Given the description of an element on the screen output the (x, y) to click on. 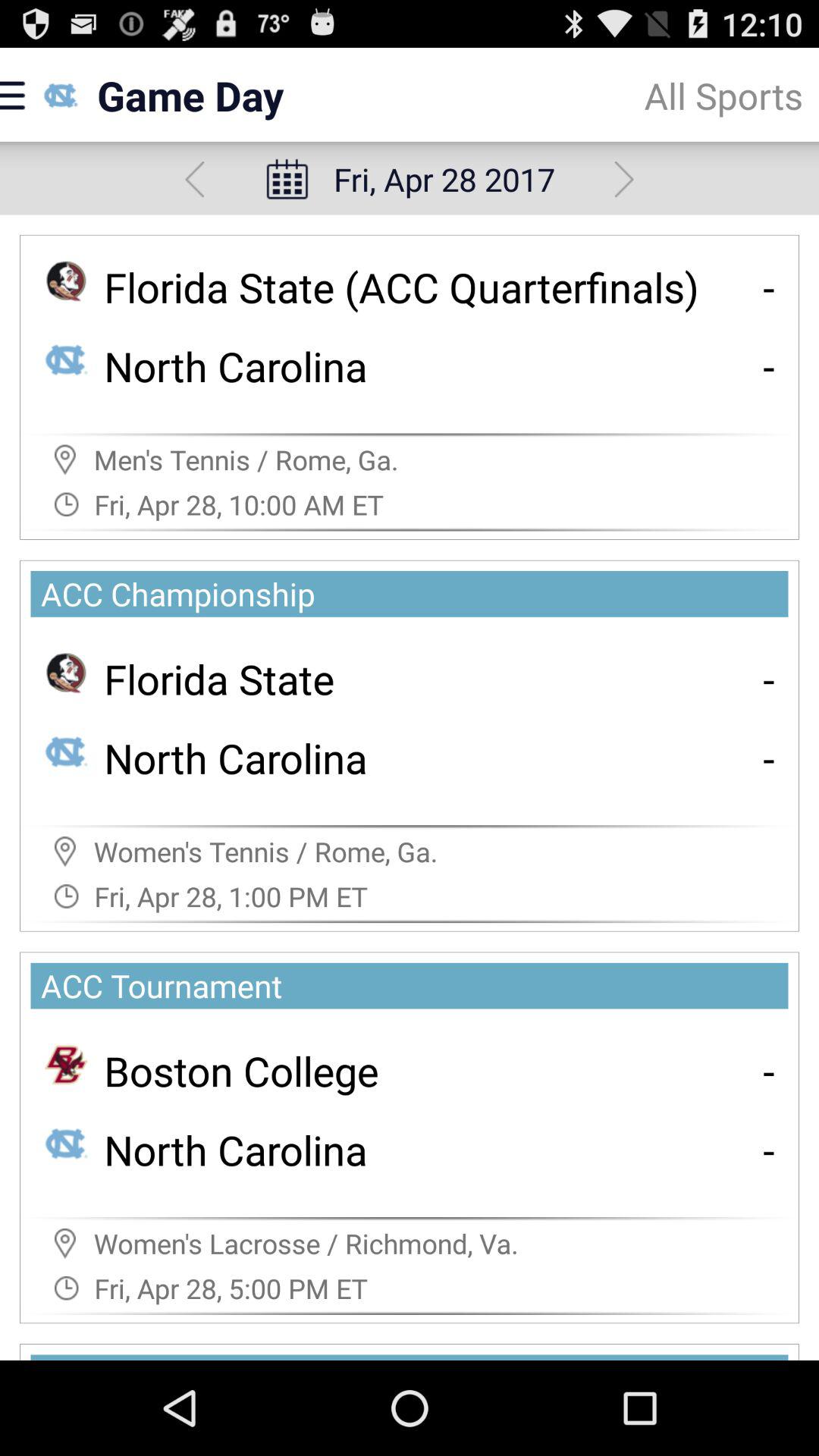
turn off the icon above - item (768, 678)
